Given the description of an element on the screen output the (x, y) to click on. 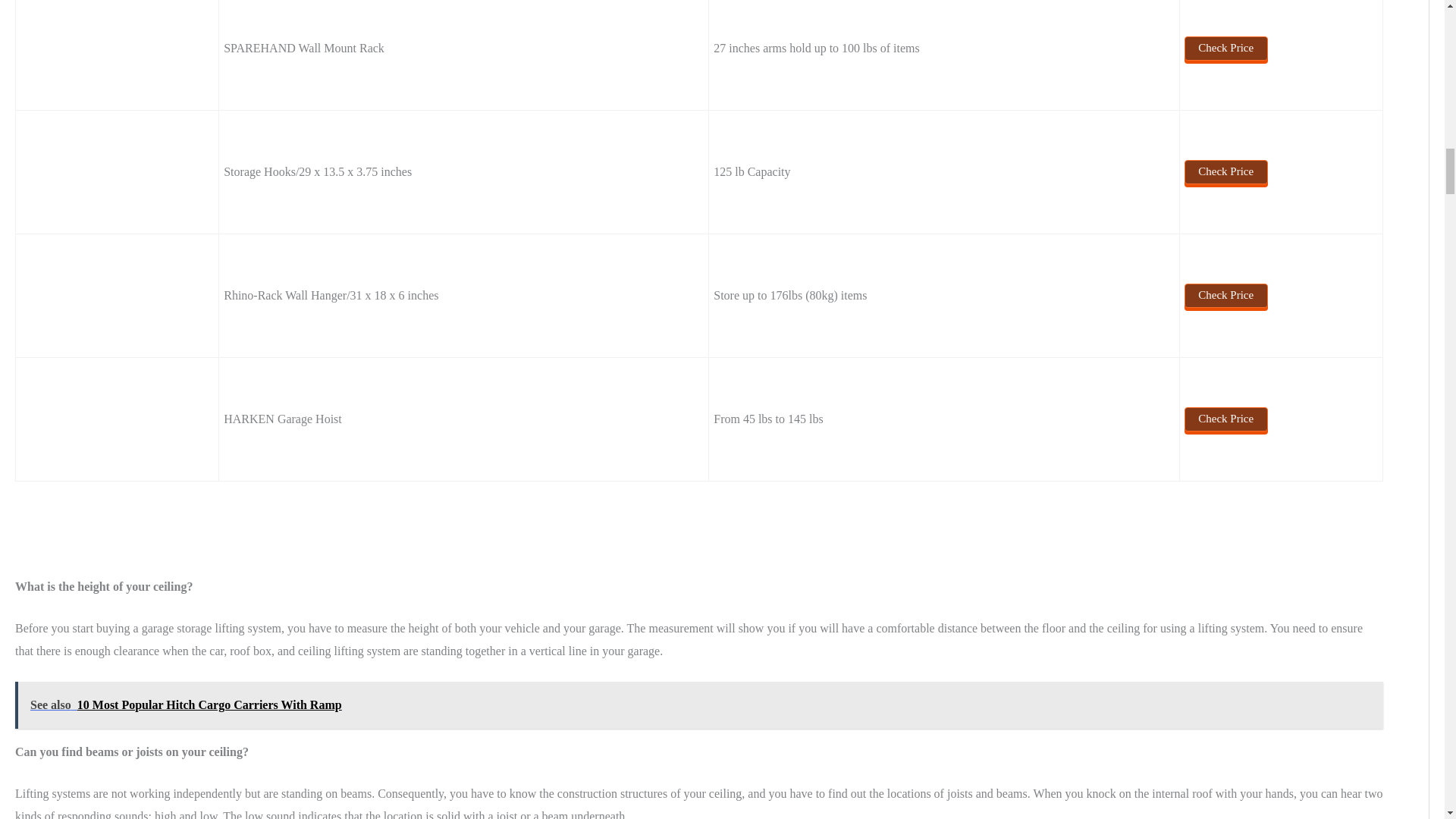
Check Price (1226, 419)
Check Price (1226, 171)
Check Price (1226, 48)
Check Price (1226, 295)
See also  10 Most Popular Hitch Cargo Carriers With Ramp (698, 704)
